Given the description of an element on the screen output the (x, y) to click on. 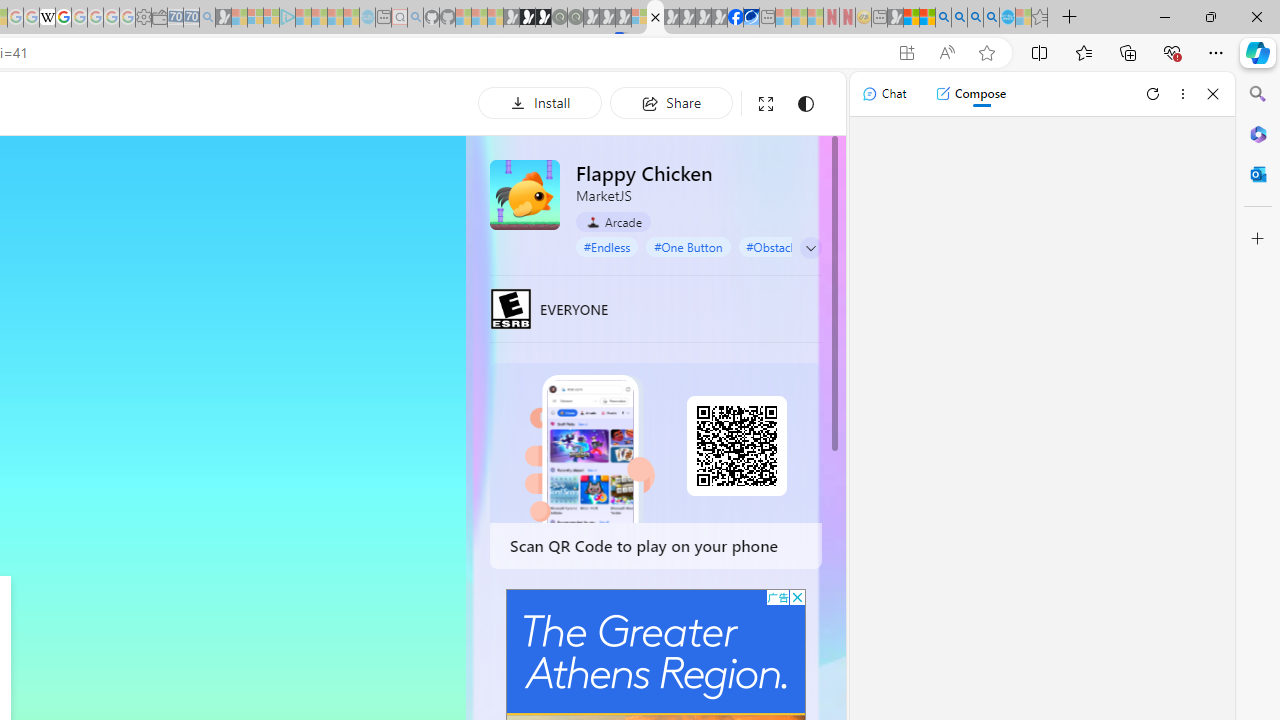
Flappy Chicken (525, 194)
App available. Install Flappy Chicken (906, 53)
